Given the description of an element on the screen output the (x, y) to click on. 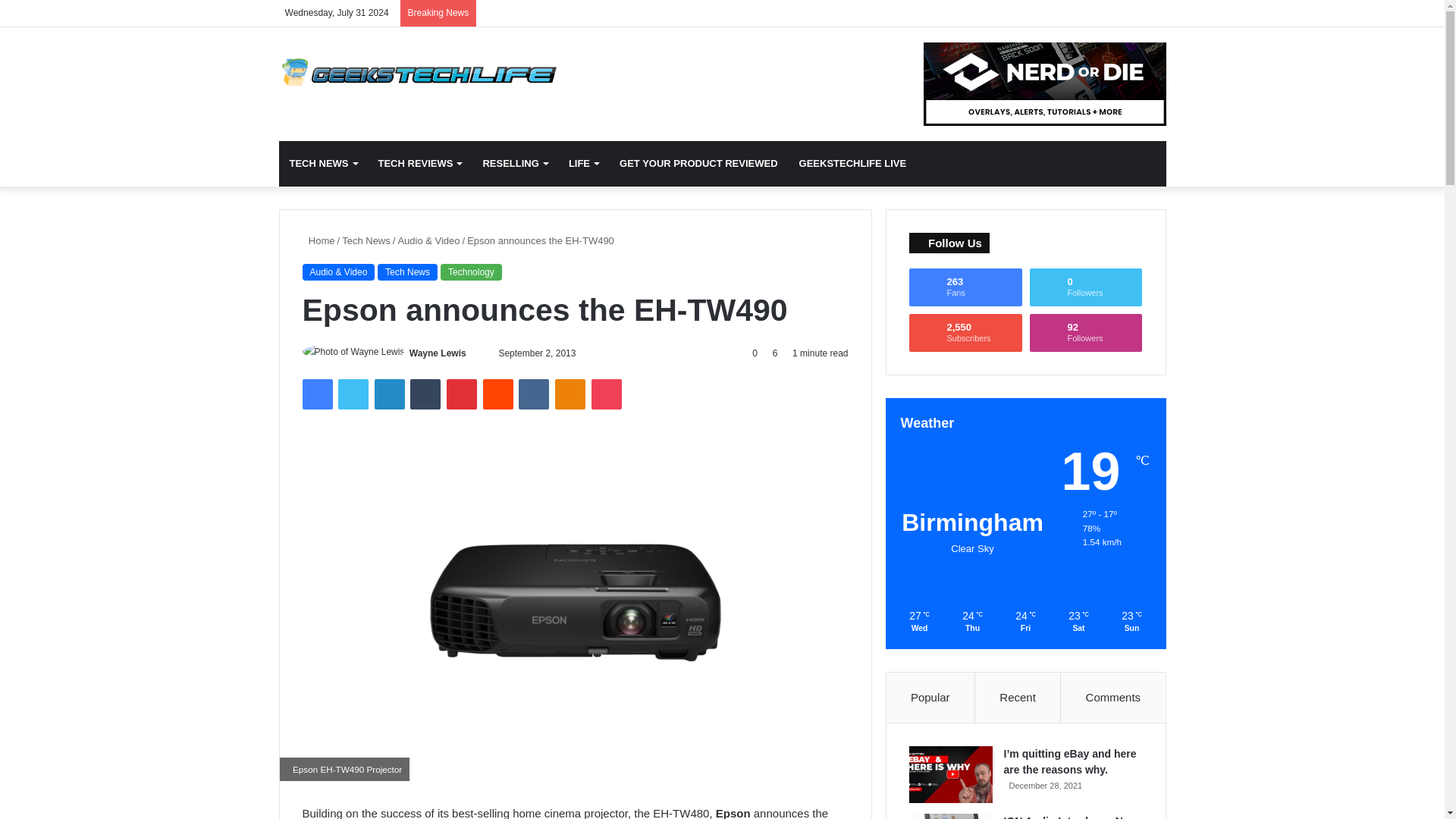
Twitter (352, 394)
TECH NEWS (323, 163)
GeeksTechLife (419, 72)
Pinterest (461, 394)
Tumblr (425, 394)
LinkedIn (389, 394)
VKontakte (533, 394)
Wayne Lewis (437, 353)
Facebook (316, 394)
Reddit (498, 394)
